Given the description of an element on the screen output the (x, y) to click on. 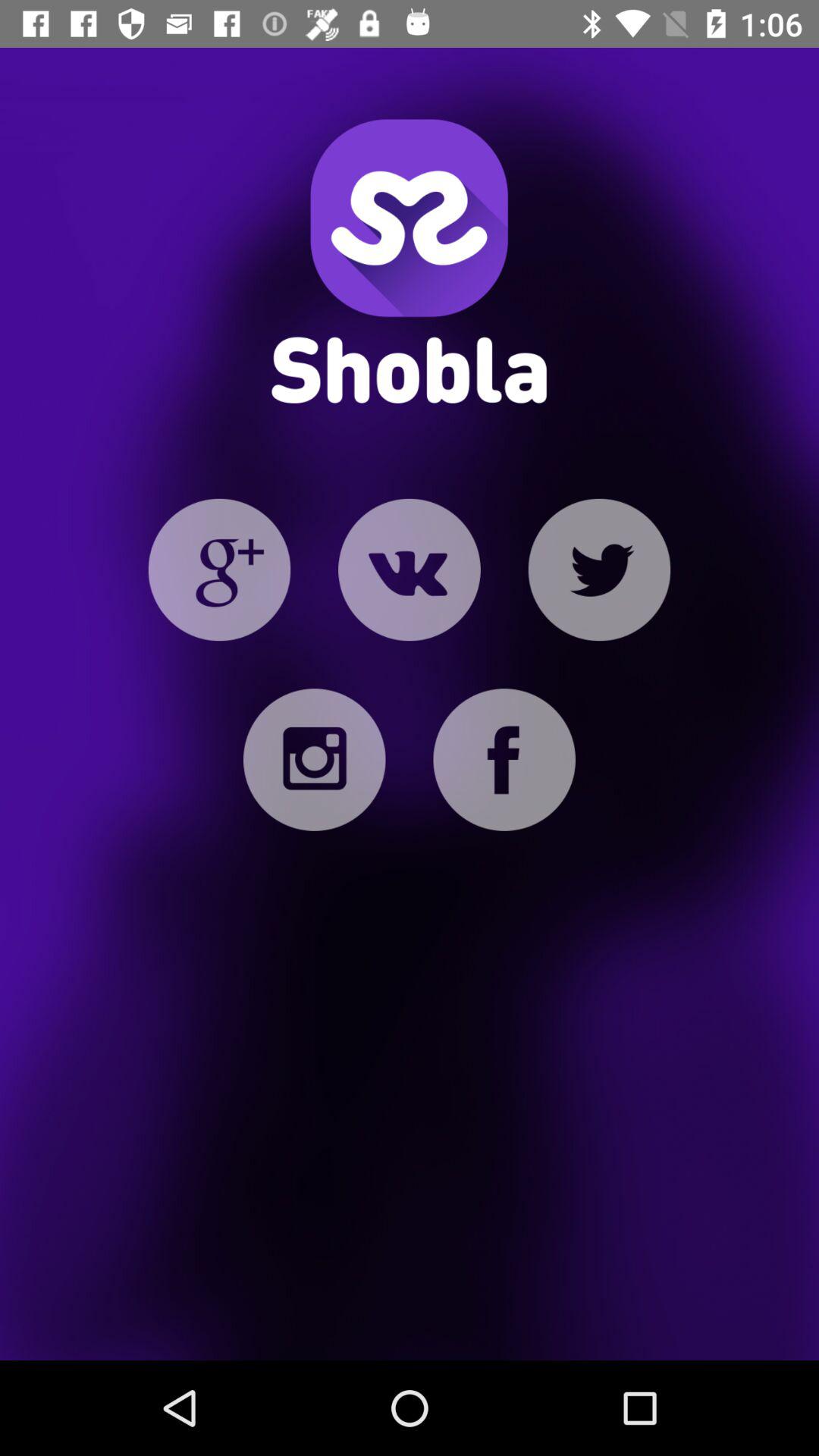
go to camera (314, 759)
